Given the description of an element on the screen output the (x, y) to click on. 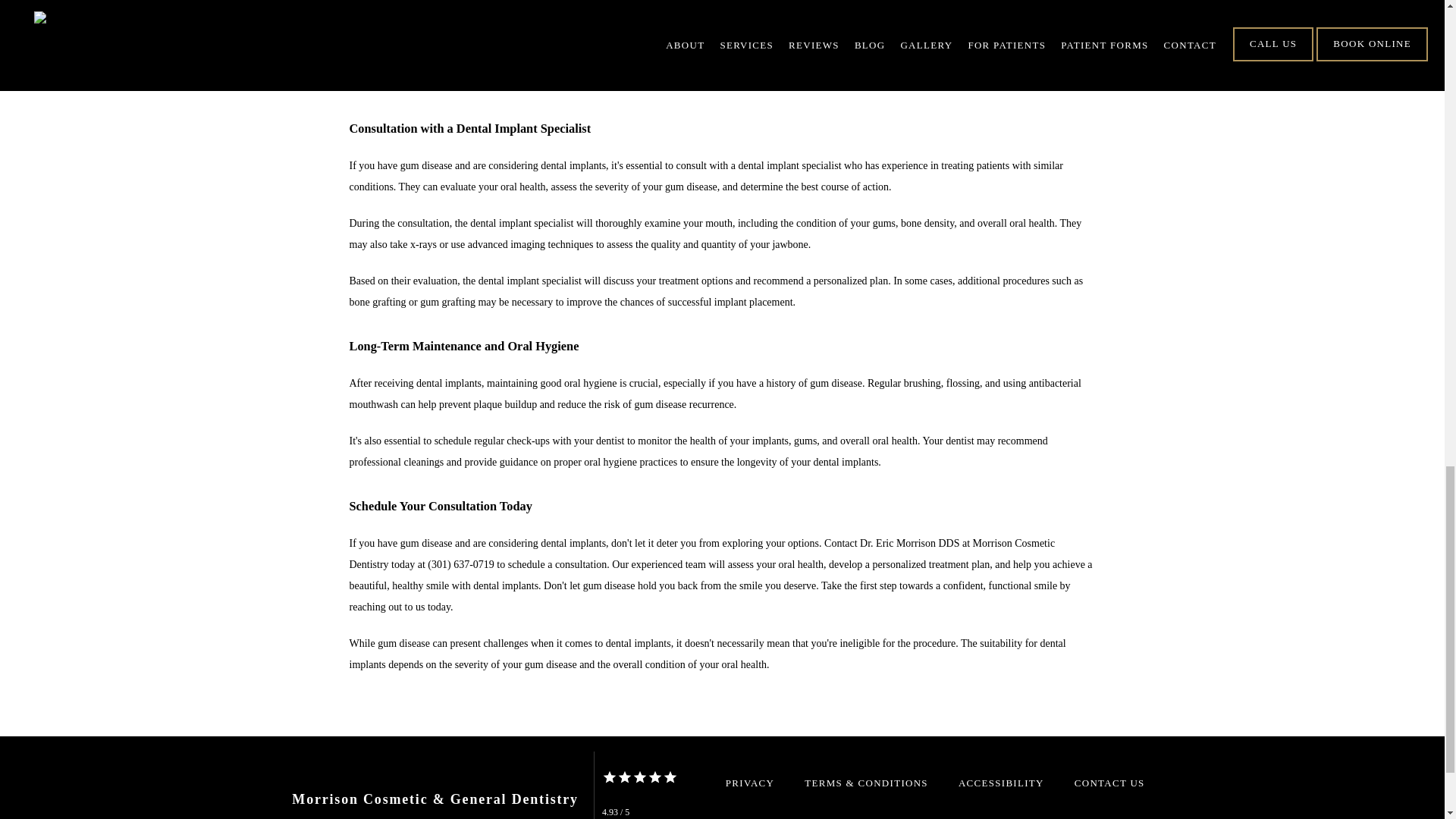
PRIVACY (749, 782)
ACCESSIBILITY (1000, 782)
treatment for gum disease (423, 5)
CONTACT US (1109, 782)
